Given the description of an element on the screen output the (x, y) to click on. 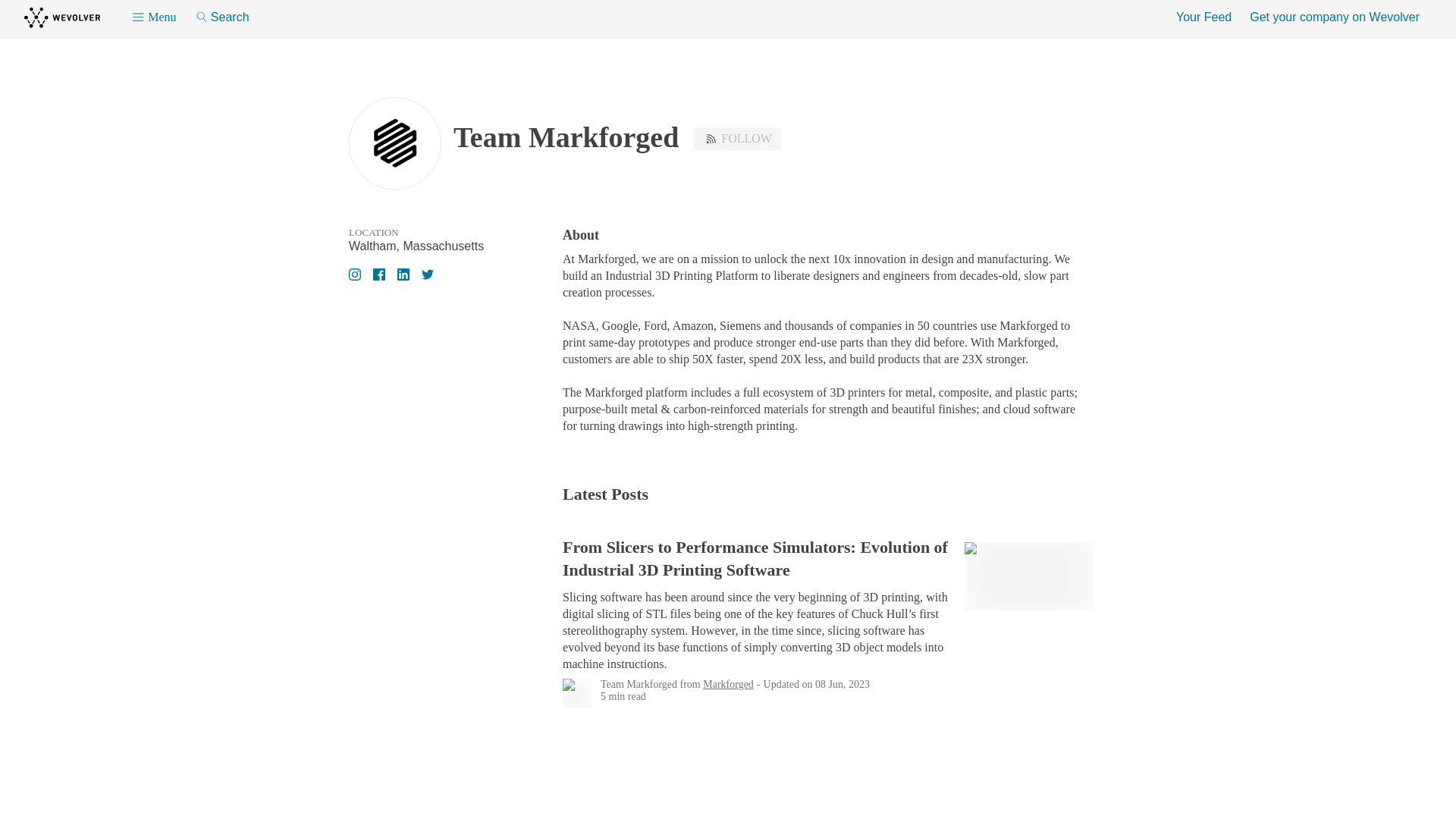
FOLLOW (737, 138)
Your Feed (1203, 17)
Markforged (728, 684)
Menu (153, 17)
Get your company on Wevolver (1334, 17)
Team Markforged (638, 684)
